Given the description of an element on the screen output the (x, y) to click on. 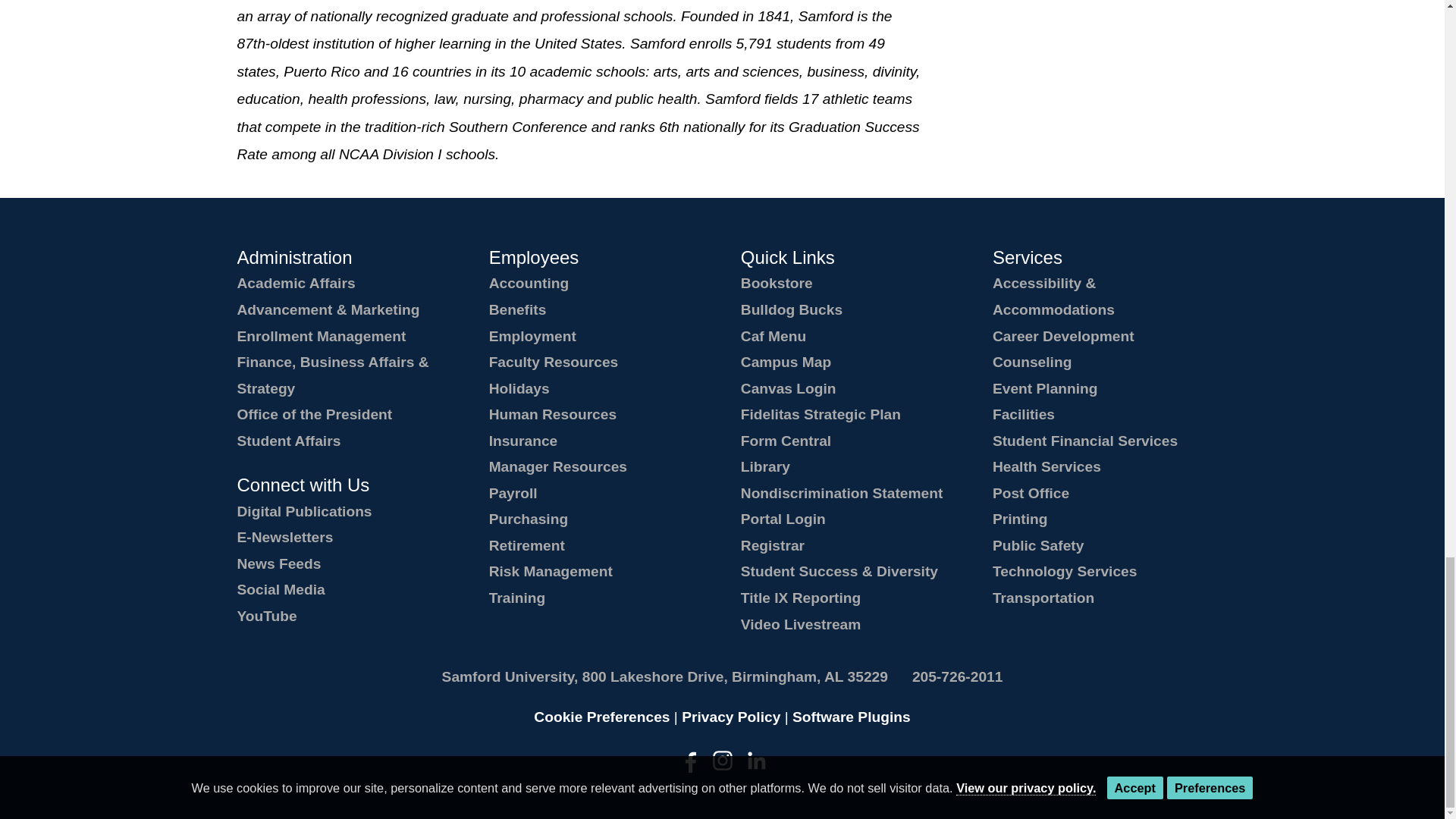
One Stop Student Financial Services (1084, 440)
Connect with us on social media. (279, 589)
Subscribe to Samford's YouTube channel. (266, 616)
Subscribe to receive Samford e-Newsletters (284, 537)
Subscribe to Samford news feeds. (277, 563)
Subscribe to Samford print publications. (303, 511)
